Given the description of an element on the screen output the (x, y) to click on. 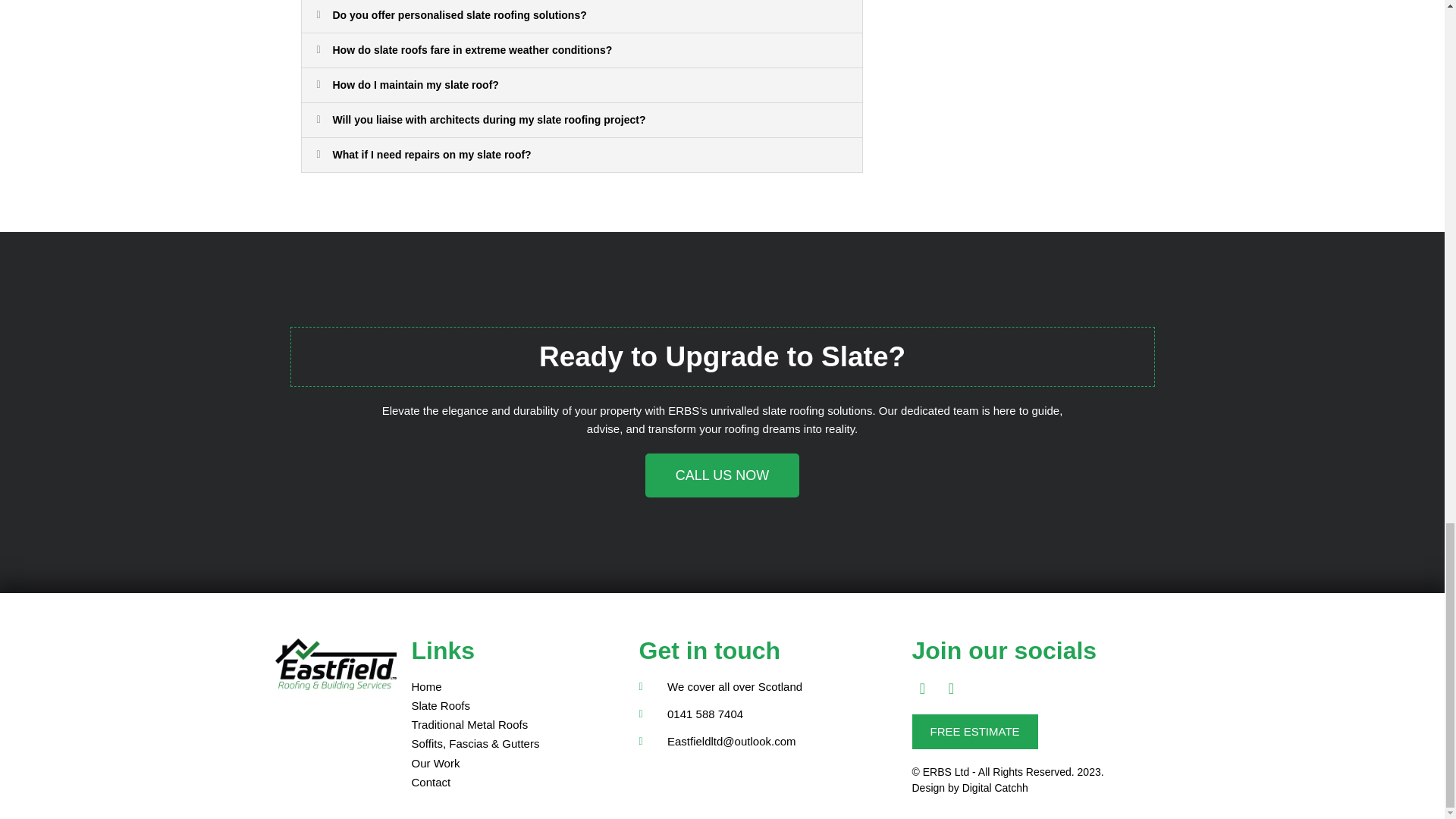
0141 588 7404 (767, 714)
How do I maintain my slate roof? (414, 84)
FREE ESTIMATE (973, 732)
What if I need repairs on my slate roof? (431, 154)
Contact (516, 782)
How do slate roofs fare in extreme weather conditions? (471, 50)
Do you offer personalised slate roofing solutions? (458, 15)
CALL US NOW (722, 475)
Home (516, 687)
